Given the description of an element on the screen output the (x, y) to click on. 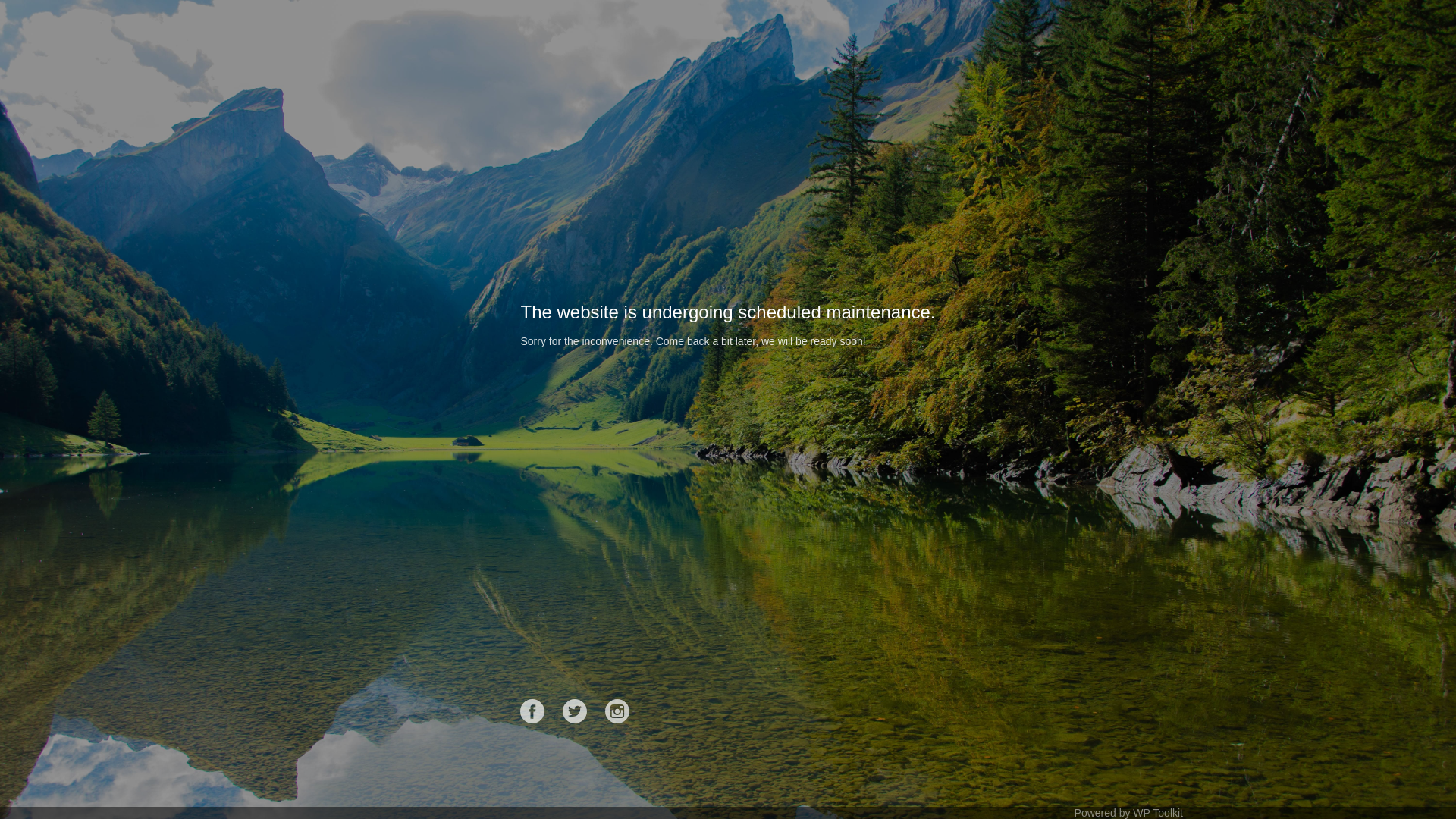
Instagram Element type: hover (617, 711)
Twitter Element type: hover (574, 711)
Facebook Element type: hover (532, 711)
